Given the description of an element on the screen output the (x, y) to click on. 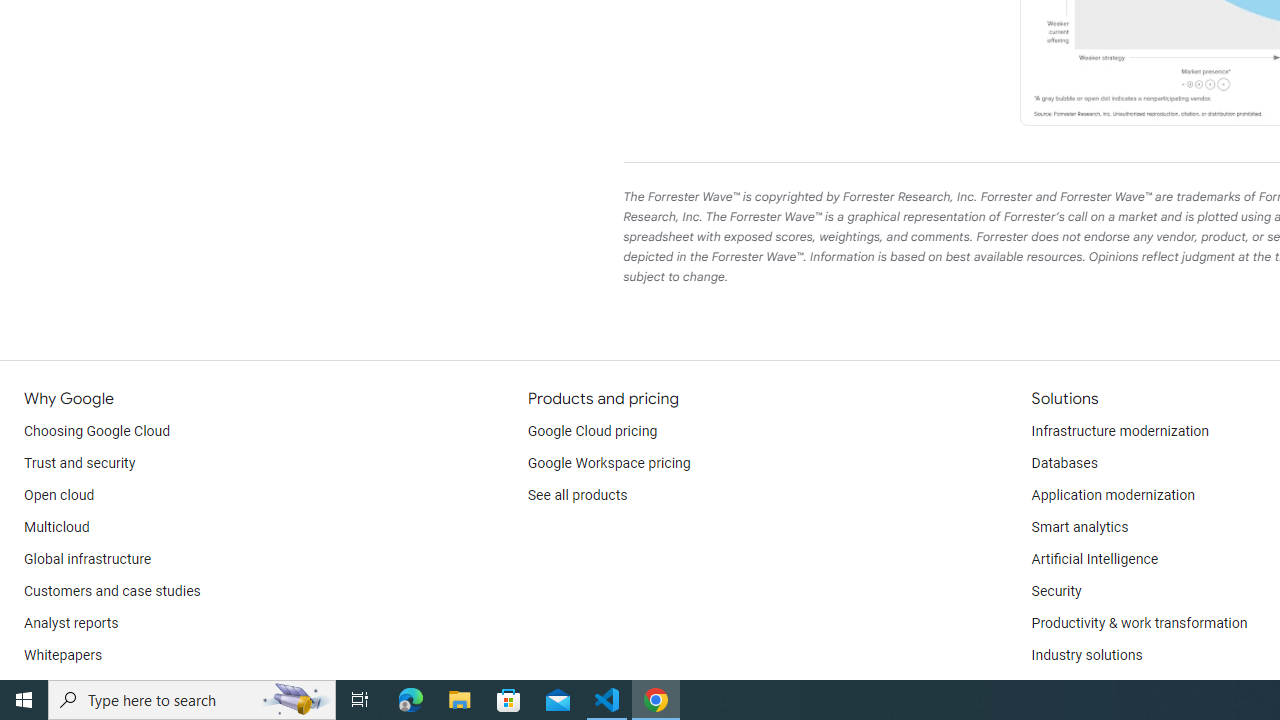
Databases (1064, 463)
Blog (38, 687)
Customers and case studies (112, 591)
Google Workspace pricing (609, 463)
Smart analytics (1079, 527)
Infrastructure modernization (1119, 431)
Application modernization (1112, 495)
Choosing Google Cloud (97, 431)
DevOps solutions (1085, 687)
Global infrastructure (88, 560)
Multicloud (56, 527)
Security (1055, 591)
Trust and security (79, 463)
Artificial Intelligence (1094, 560)
